Given the description of an element on the screen output the (x, y) to click on. 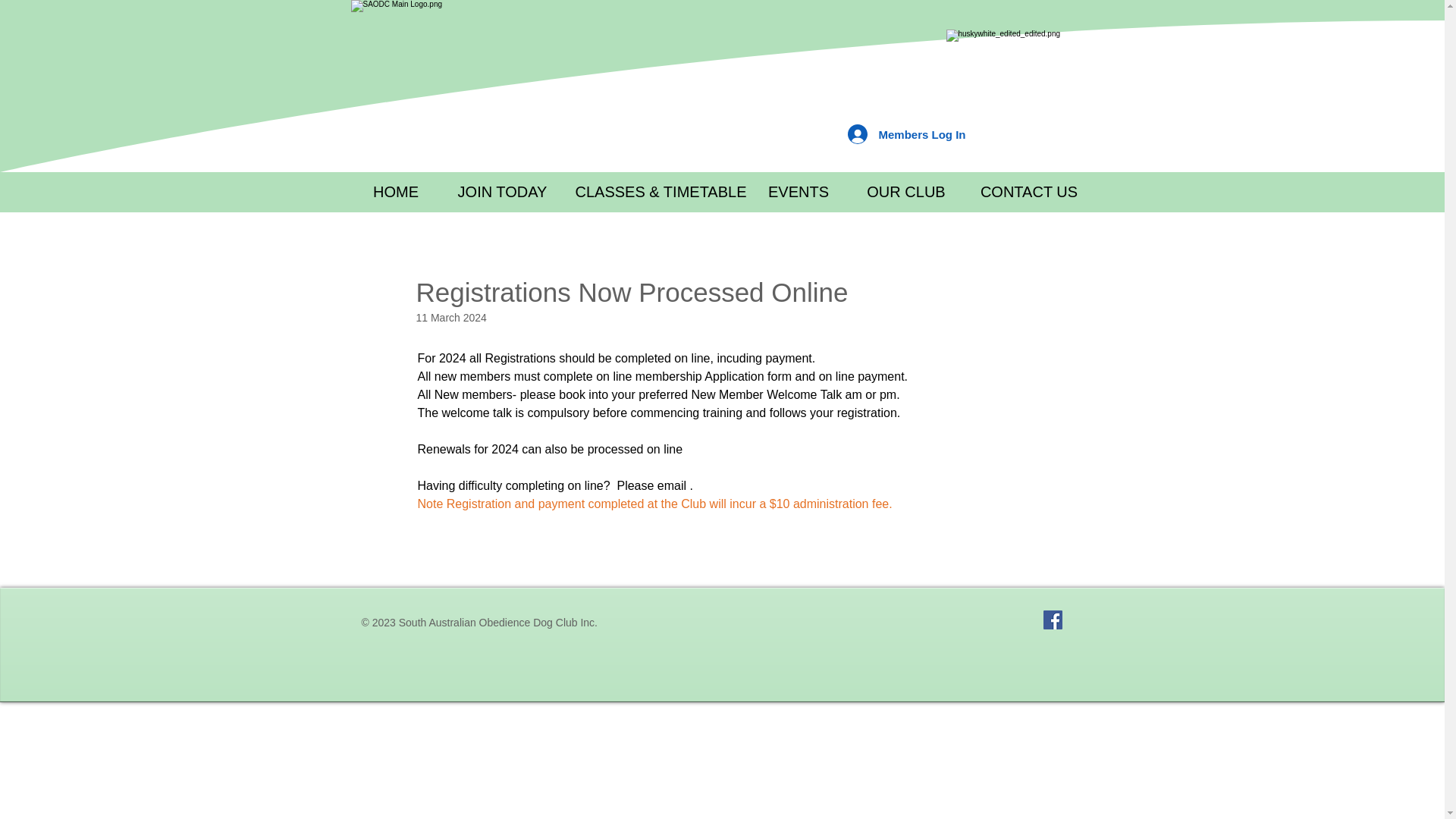
CONTACT US (1028, 191)
Members Log In (906, 133)
HOME (395, 191)
JOIN TODAY (502, 191)
EVENTS (798, 191)
